Given the description of an element on the screen output the (x, y) to click on. 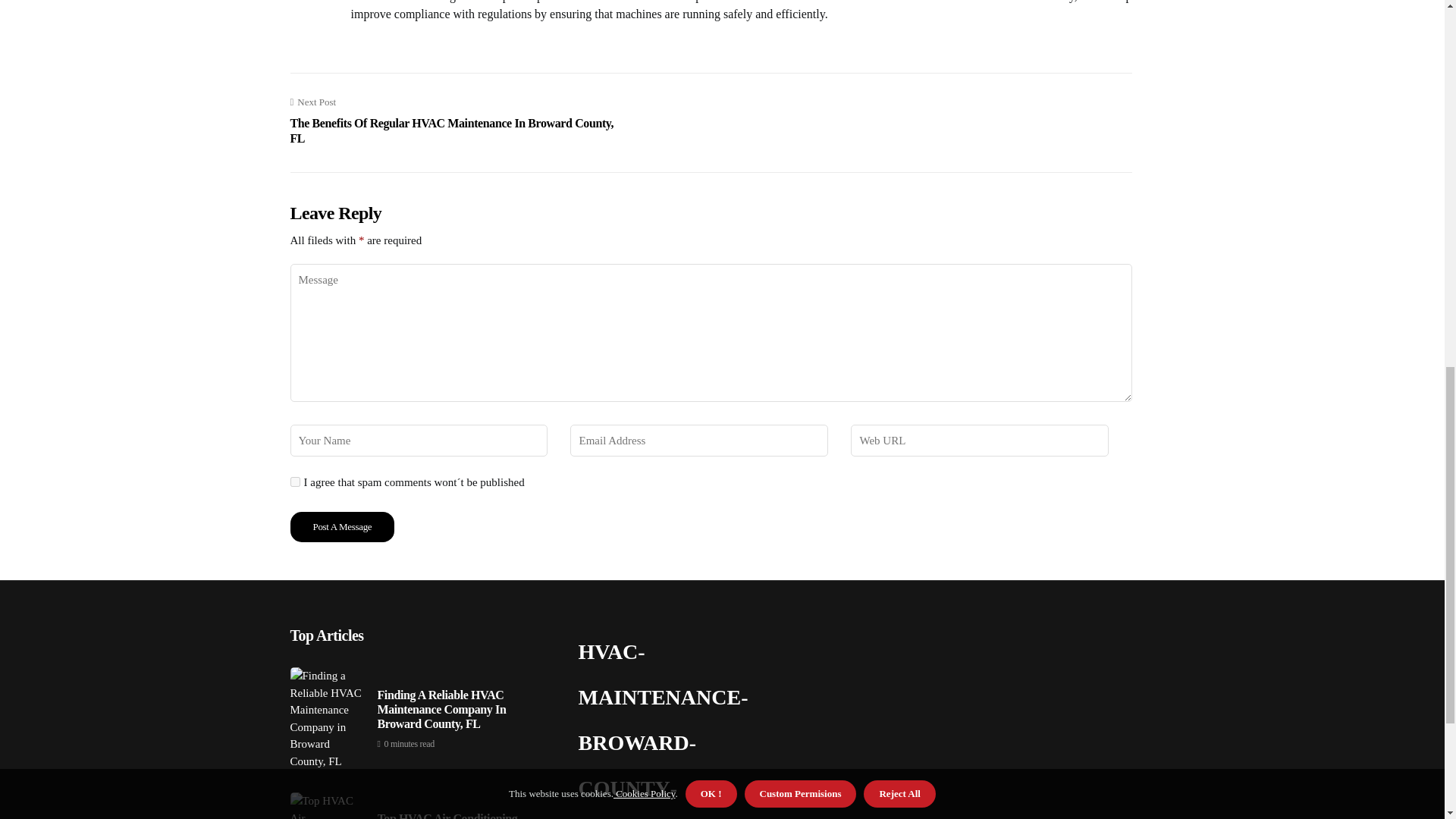
Post a Message (341, 526)
yes (294, 481)
Post a Message (341, 526)
